Given the description of an element on the screen output the (x, y) to click on. 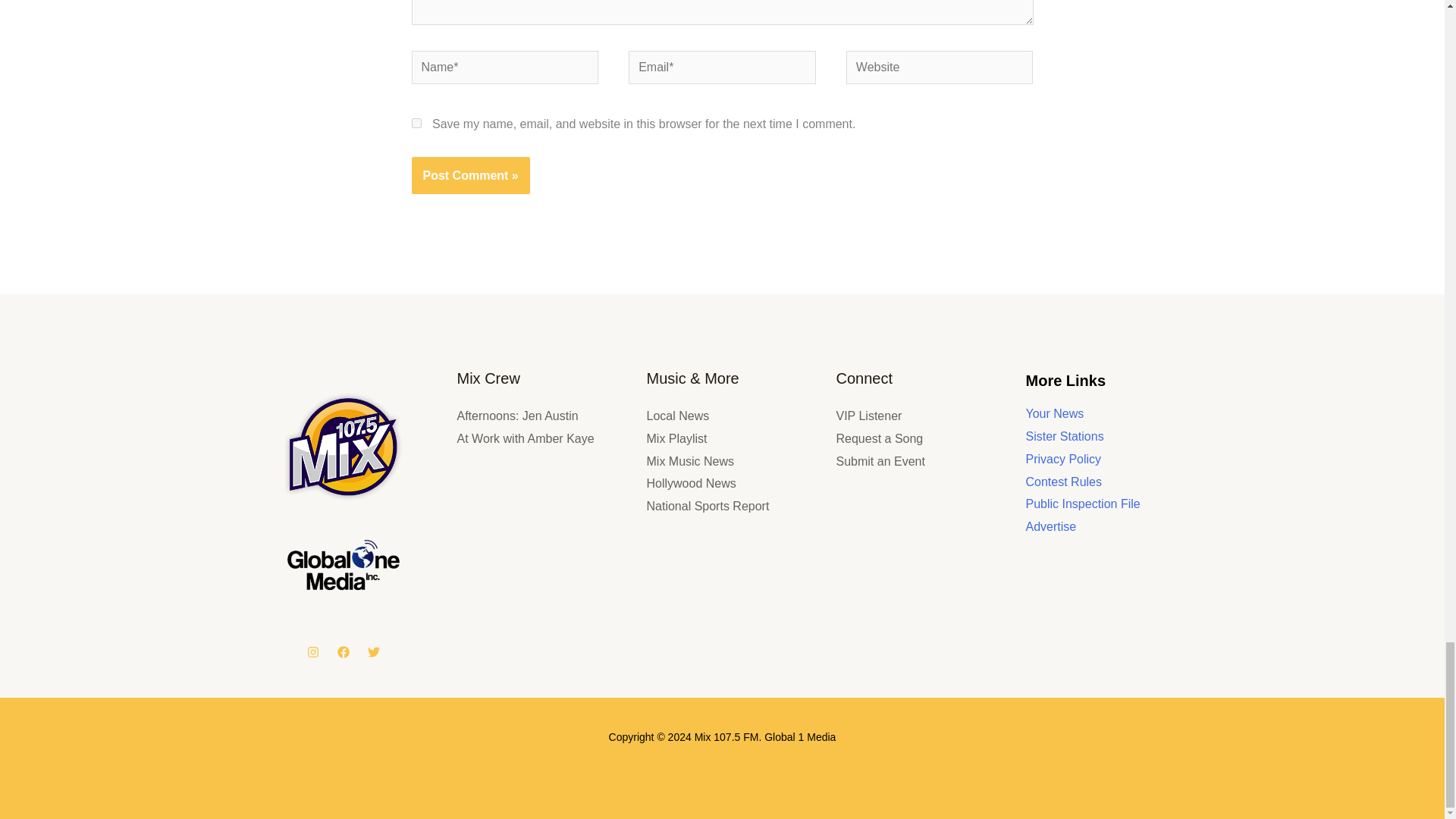
yes (415, 122)
